Given the description of an element on the screen output the (x, y) to click on. 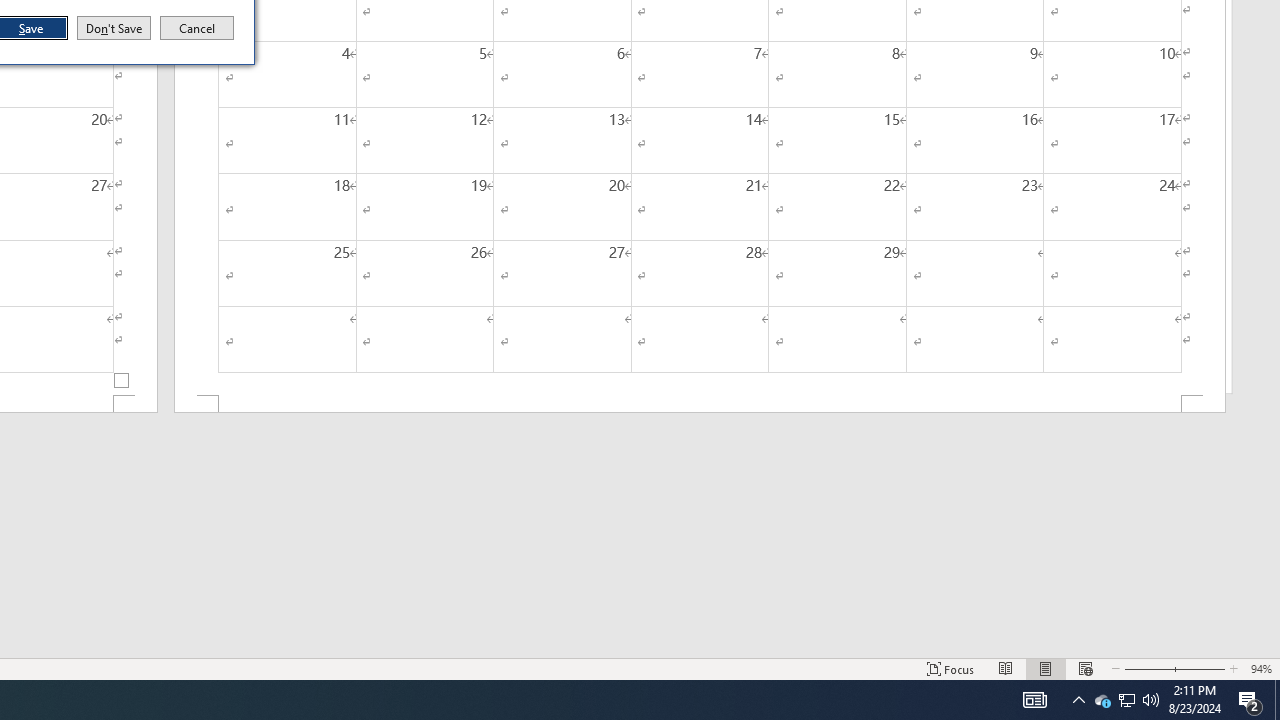
Cancel (197, 27)
Don't Save (113, 27)
